Given the description of an element on the screen output the (x, y) to click on. 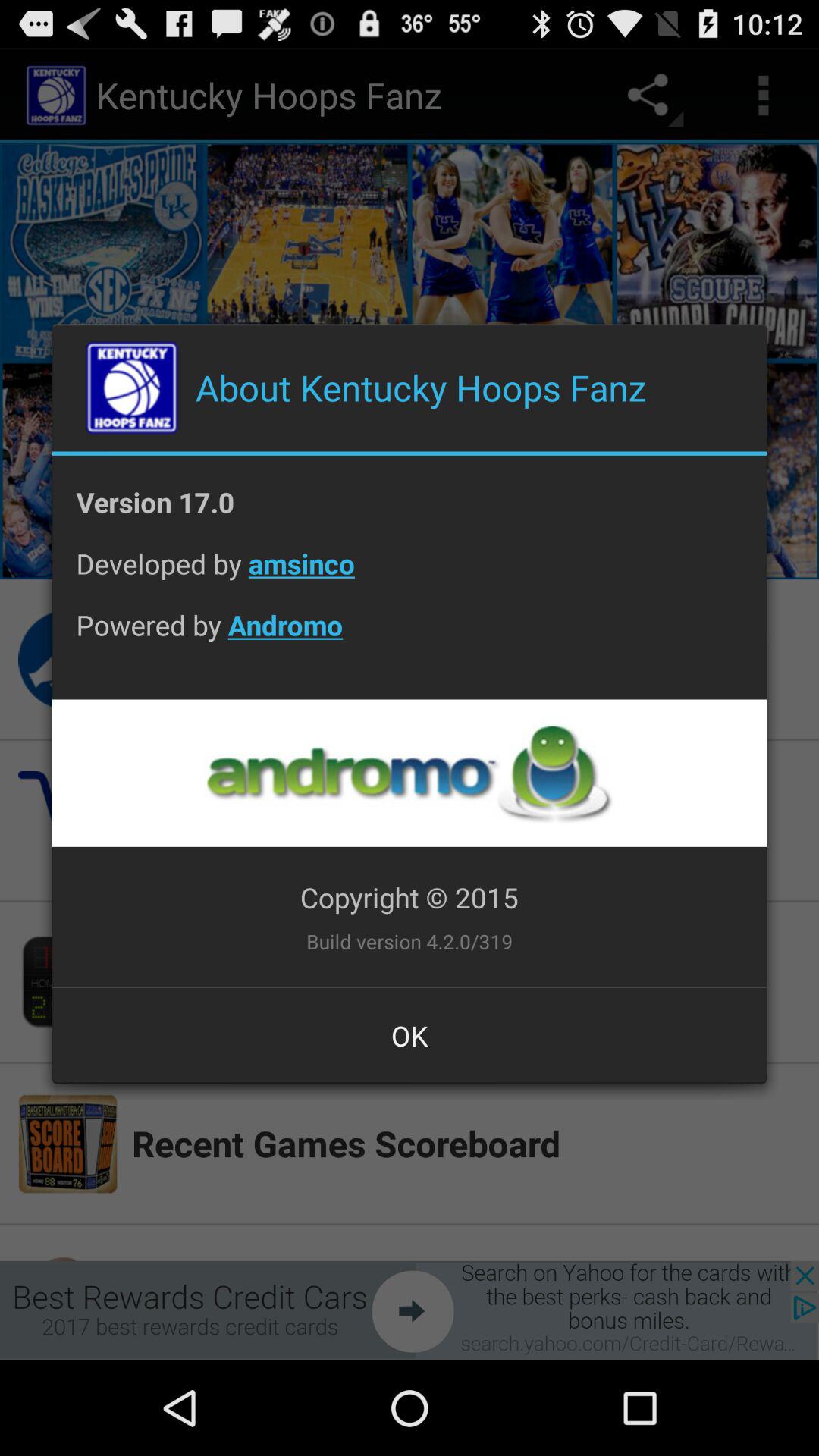
tap item below build version 4 item (409, 1035)
